Given the description of an element on the screen output the (x, y) to click on. 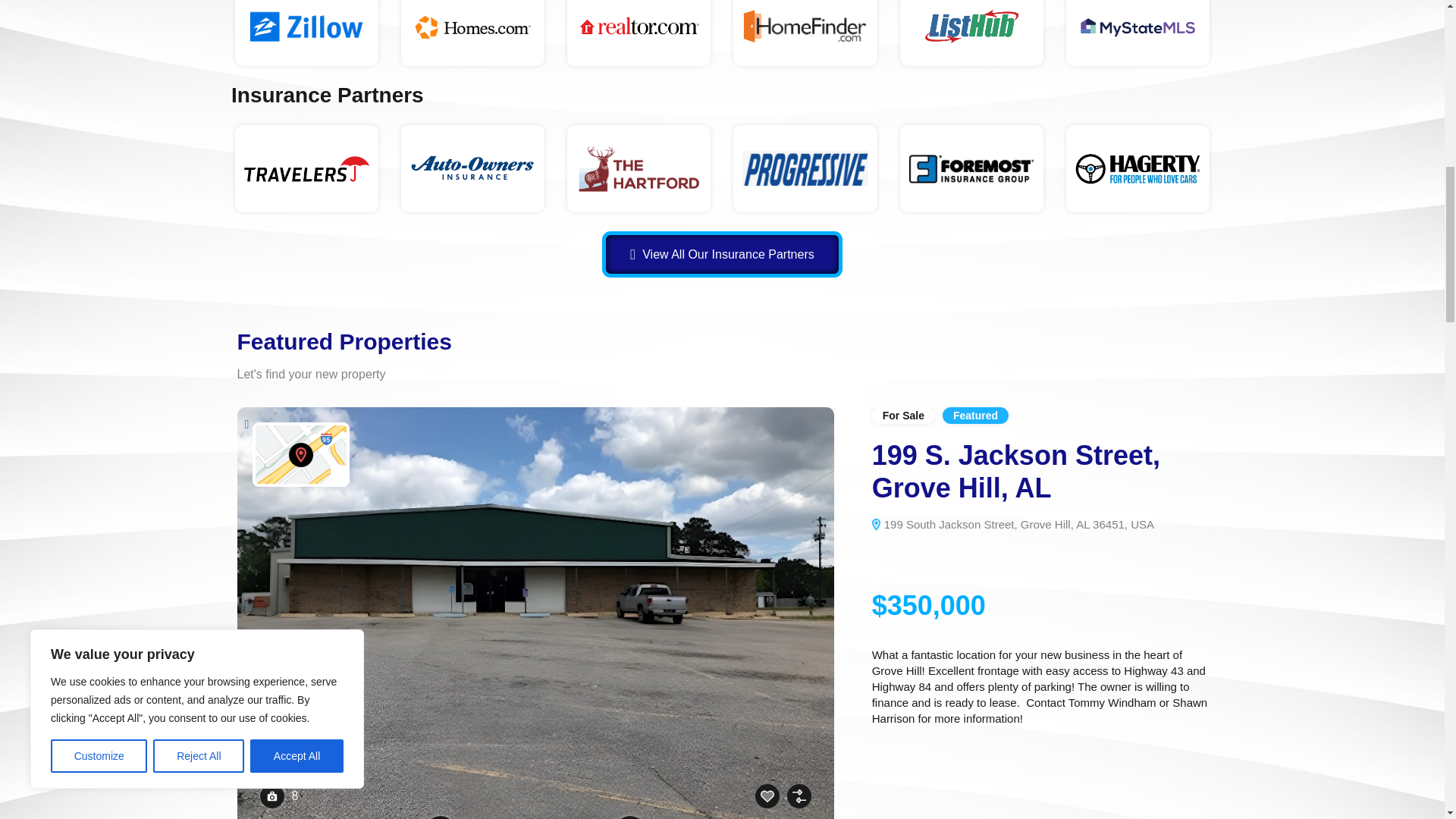
Add To Favourite (766, 795)
Add To Compare (798, 795)
